Given the description of an element on the screen output the (x, y) to click on. 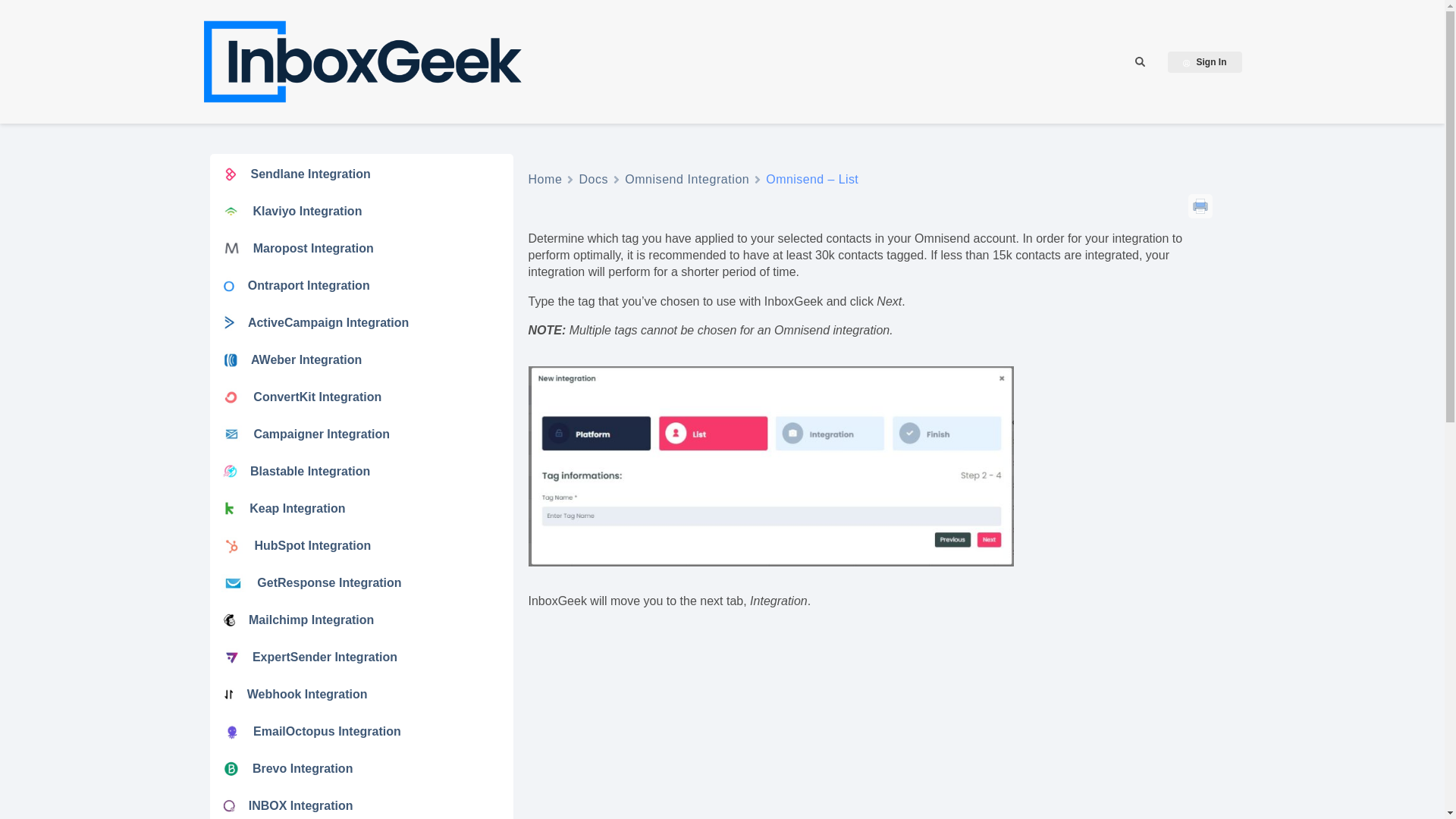
Home (544, 179)
Omnisend Integration (686, 179)
Docs (593, 179)
Sign In (1204, 61)
Sign In (1204, 61)
TAG-2nd step (770, 466)
